Given the description of an element on the screen output the (x, y) to click on. 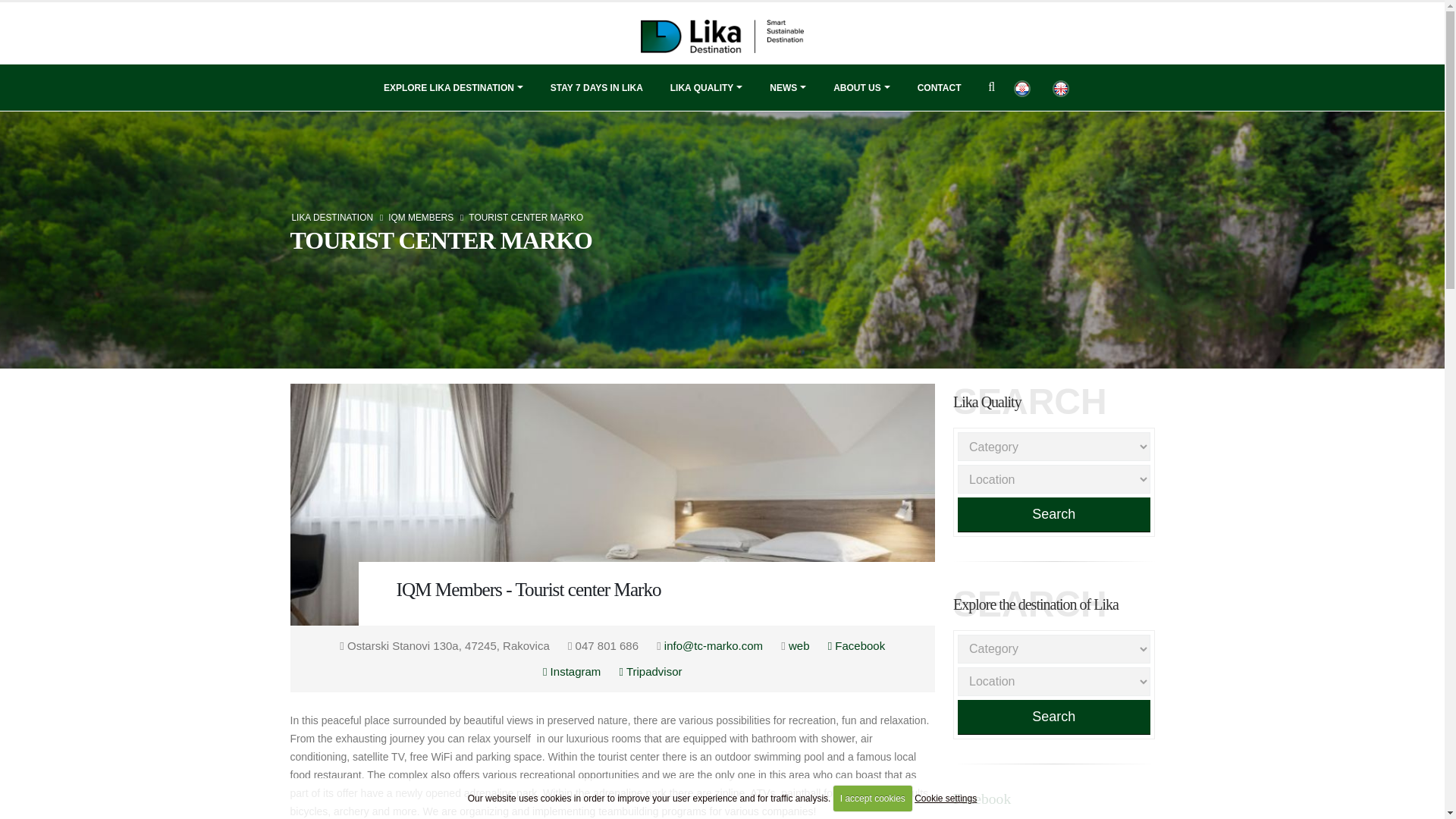
Lika destination - About Us (861, 87)
Lika destination Stay 7 days in Lika (595, 87)
Lika destination - News (787, 87)
EXPLORE LIKA DESTINATION (453, 87)
Lika quality (706, 87)
Lika destination - Explore Lika destination (453, 87)
